Given the description of an element on the screen output the (x, y) to click on. 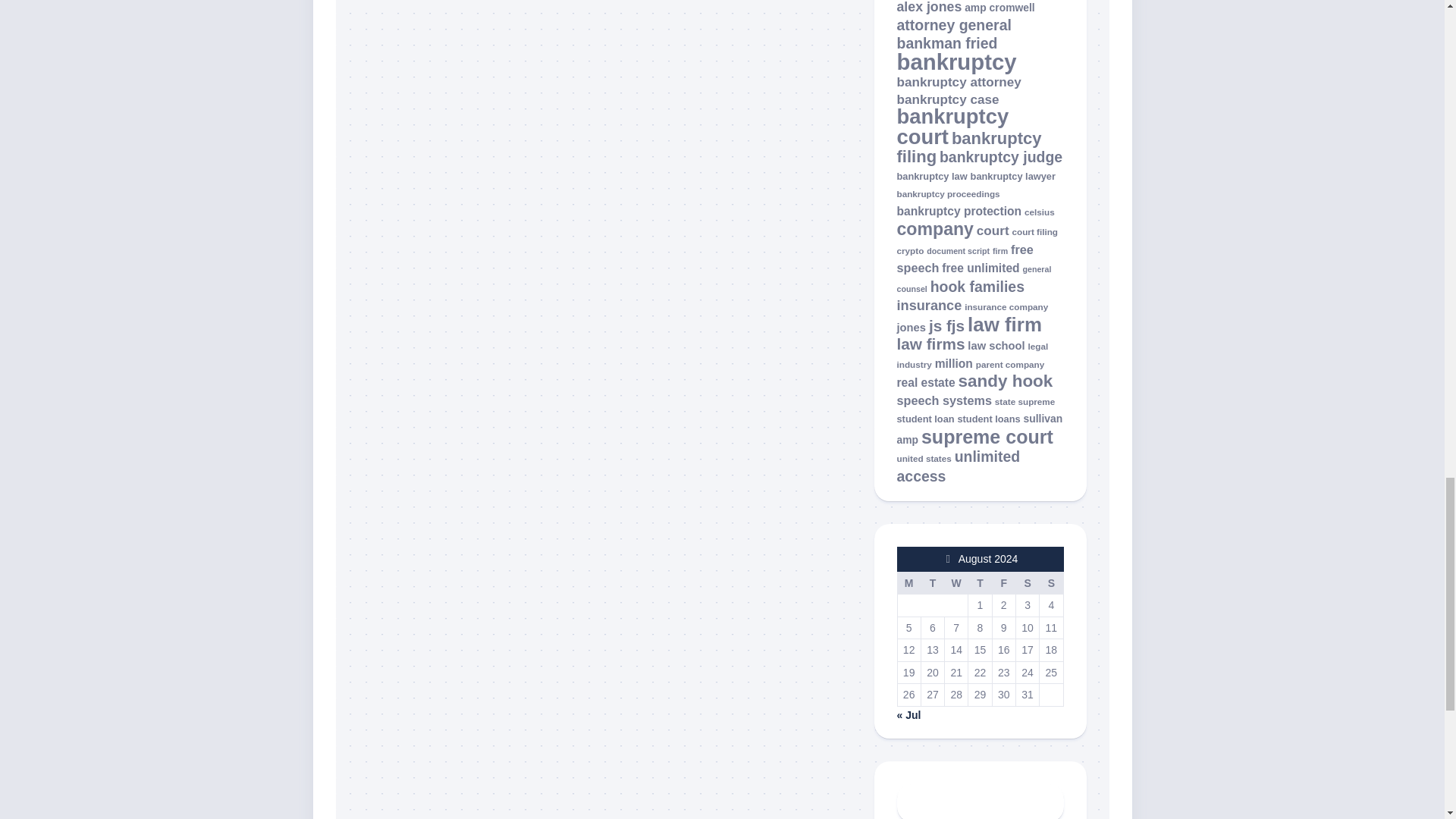
Monday (908, 582)
Tuesday (931, 582)
Friday (1002, 582)
Thursday (979, 582)
Wednesday (956, 582)
Sunday (1050, 582)
Saturday (1026, 582)
